Given the description of an element on the screen output the (x, y) to click on. 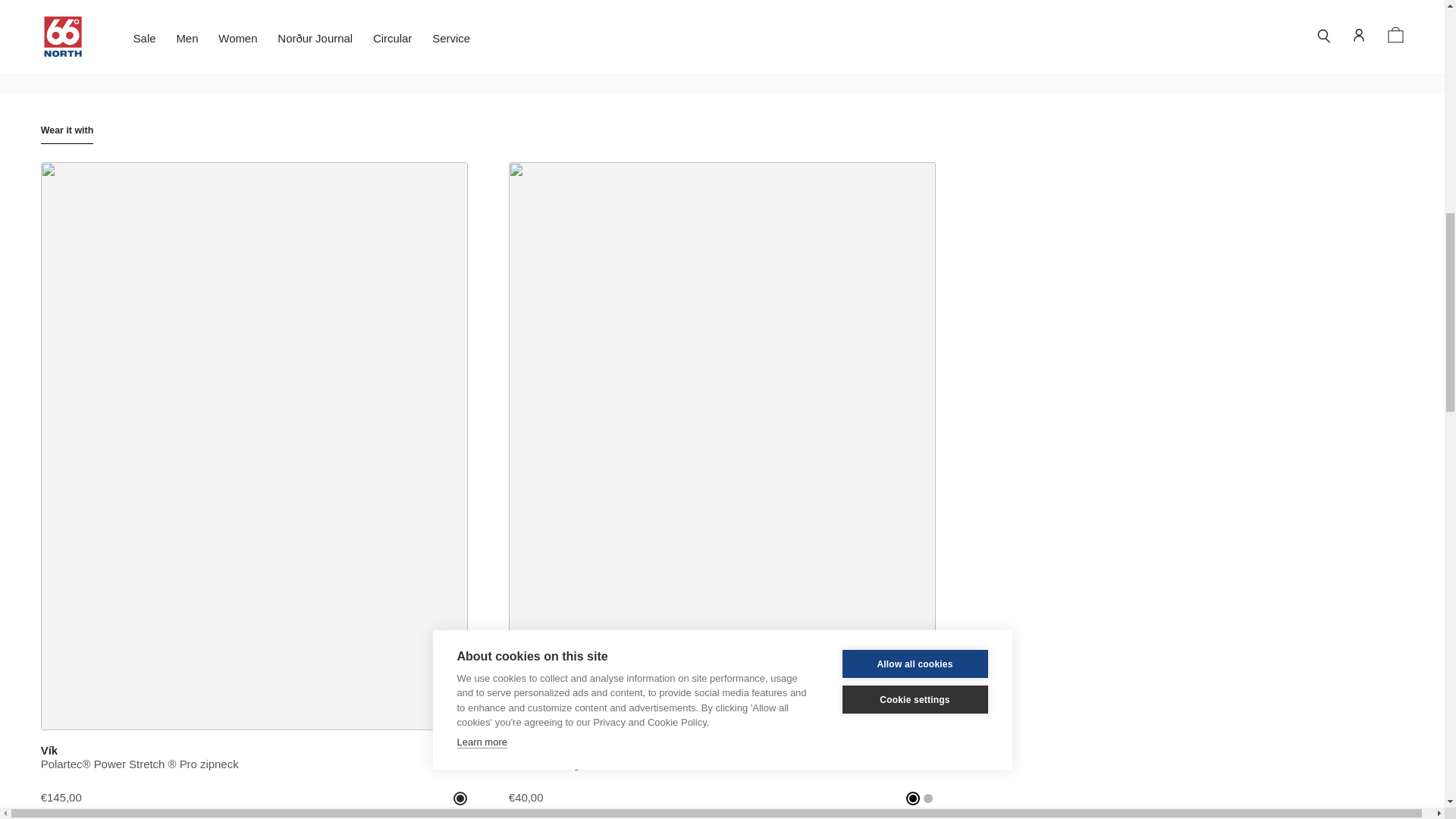
Learn more (481, 24)
